Given the description of an element on the screen output the (x, y) to click on. 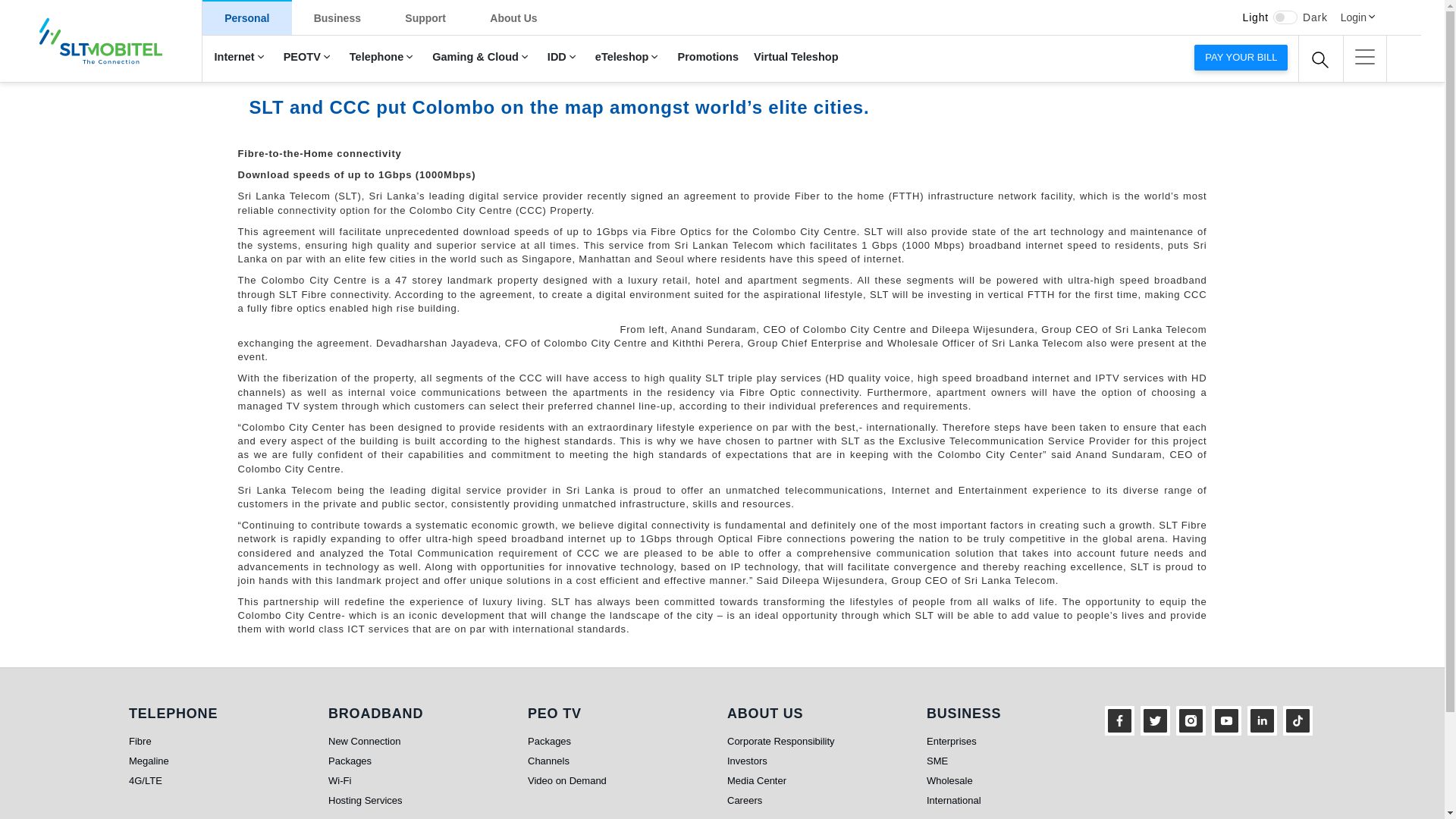
on (1284, 17)
Personal (247, 17)
Internet (240, 57)
